Given the description of an element on the screen output the (x, y) to click on. 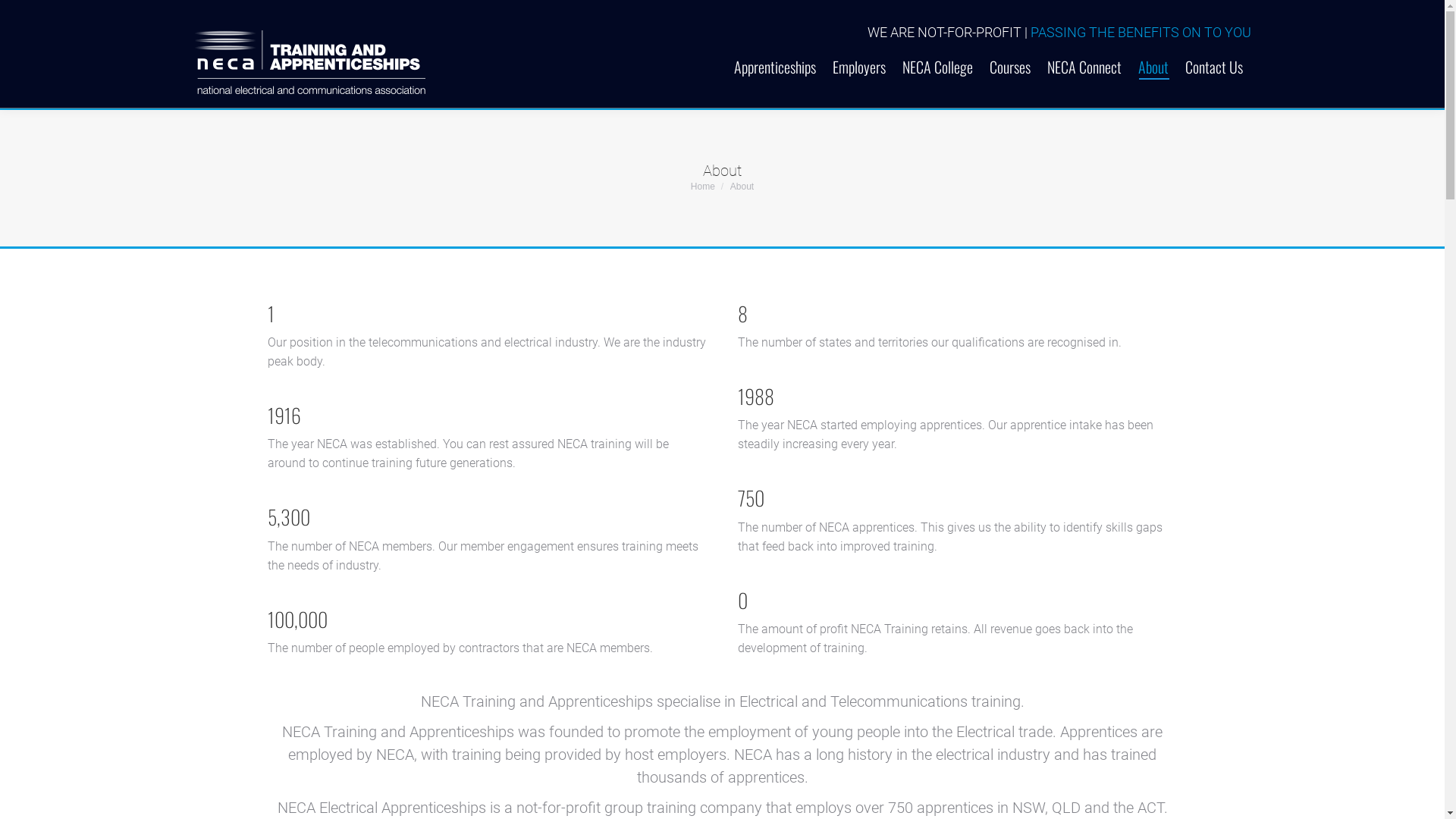
Home Element type: text (702, 185)
Employers Element type: text (859, 53)
NECA Connect Element type: text (1083, 53)
Apprenticeships Element type: text (774, 53)
About Element type: text (1152, 53)
NECA College Element type: text (937, 53)
Courses Element type: text (1009, 53)
Contact Us Element type: text (1213, 53)
